Given the description of an element on the screen output the (x, y) to click on. 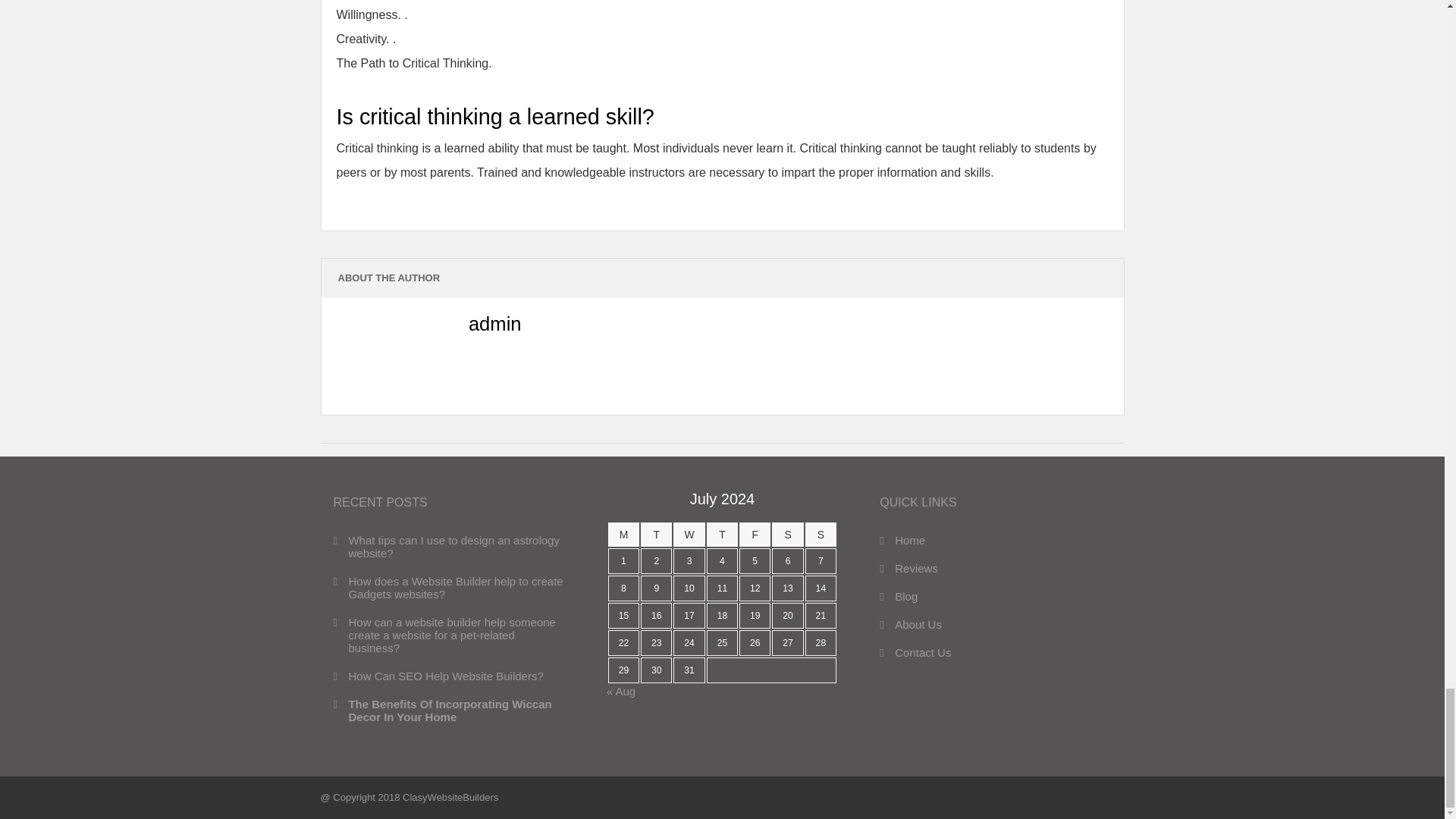
Tuesday (655, 534)
What tips can I use to design an astrology website? (448, 546)
The Benefits Of Incorporating Wiccan Decor In Your Home  (448, 710)
Saturday (787, 534)
Home (901, 540)
Blog (898, 595)
Sunday (820, 534)
How does a Website Builder help to create Gadgets websites? (448, 587)
Friday (754, 534)
How Can SEO Help Website Builders? (438, 675)
Thursday (722, 534)
About Us (910, 624)
Reviews (908, 567)
Wednesday (688, 534)
